Given the description of an element on the screen output the (x, y) to click on. 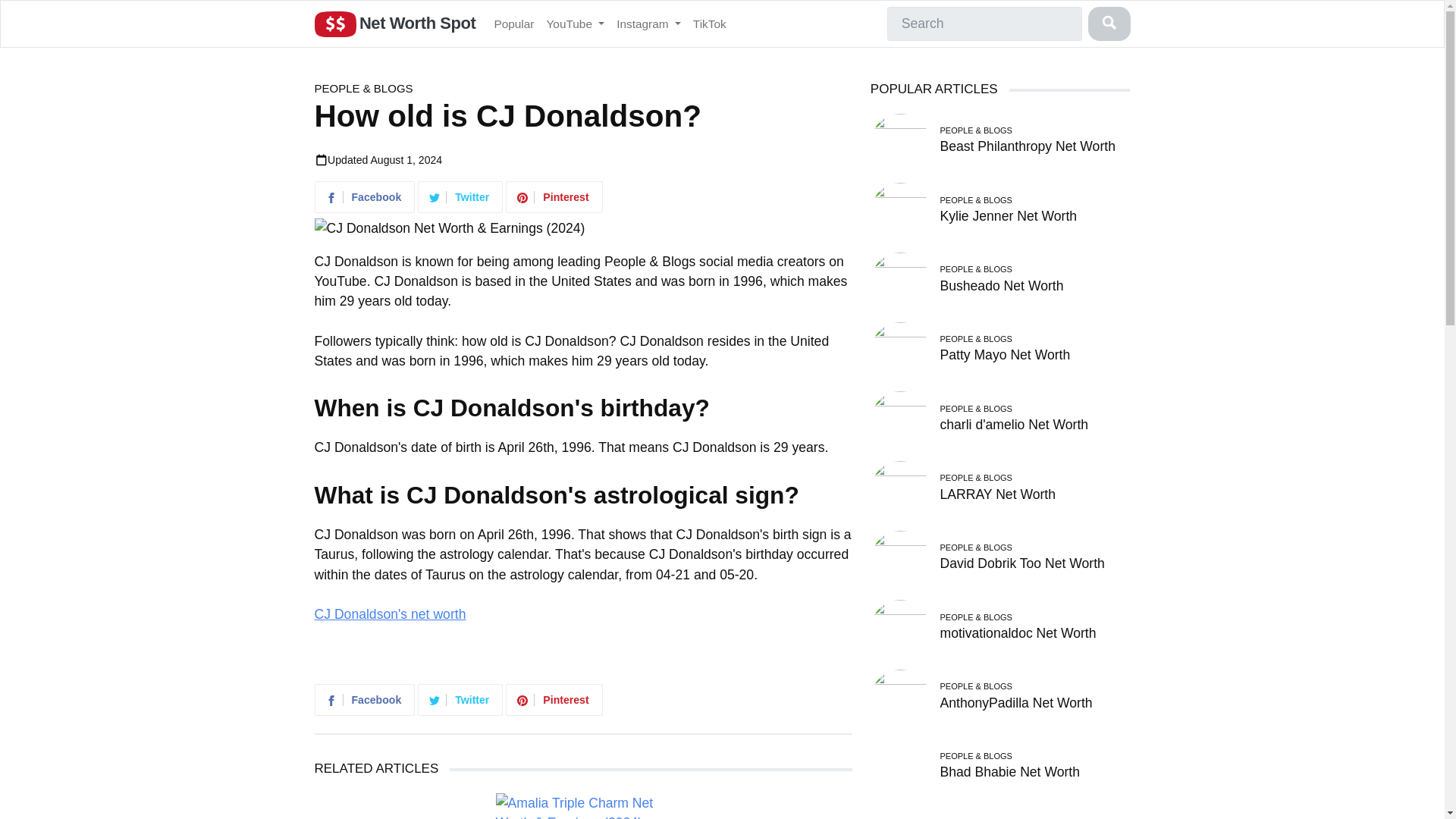
LARRAY Net Worth (997, 494)
charli d'amelio Net Worth (1013, 424)
TechZone Net Worth (764, 806)
Facebook (365, 198)
Net Worth Spot (395, 23)
CJ Donaldson's net worth (389, 613)
Popular (513, 23)
motivationaldoc Net Worth (1017, 632)
Twitter (461, 198)
Pinterest (555, 701)
